Given the description of an element on the screen output the (x, y) to click on. 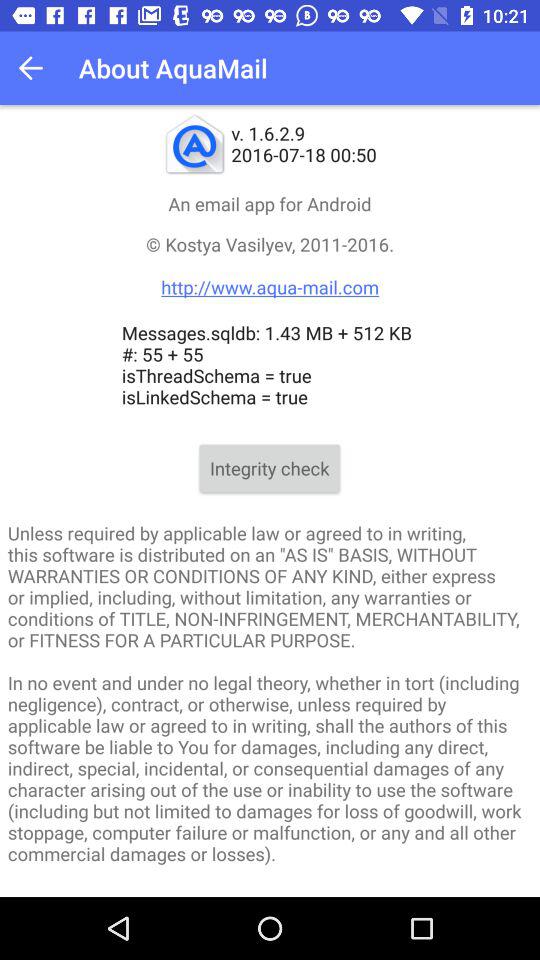
click the item above the unless required by item (269, 467)
